Given the description of an element on the screen output the (x, y) to click on. 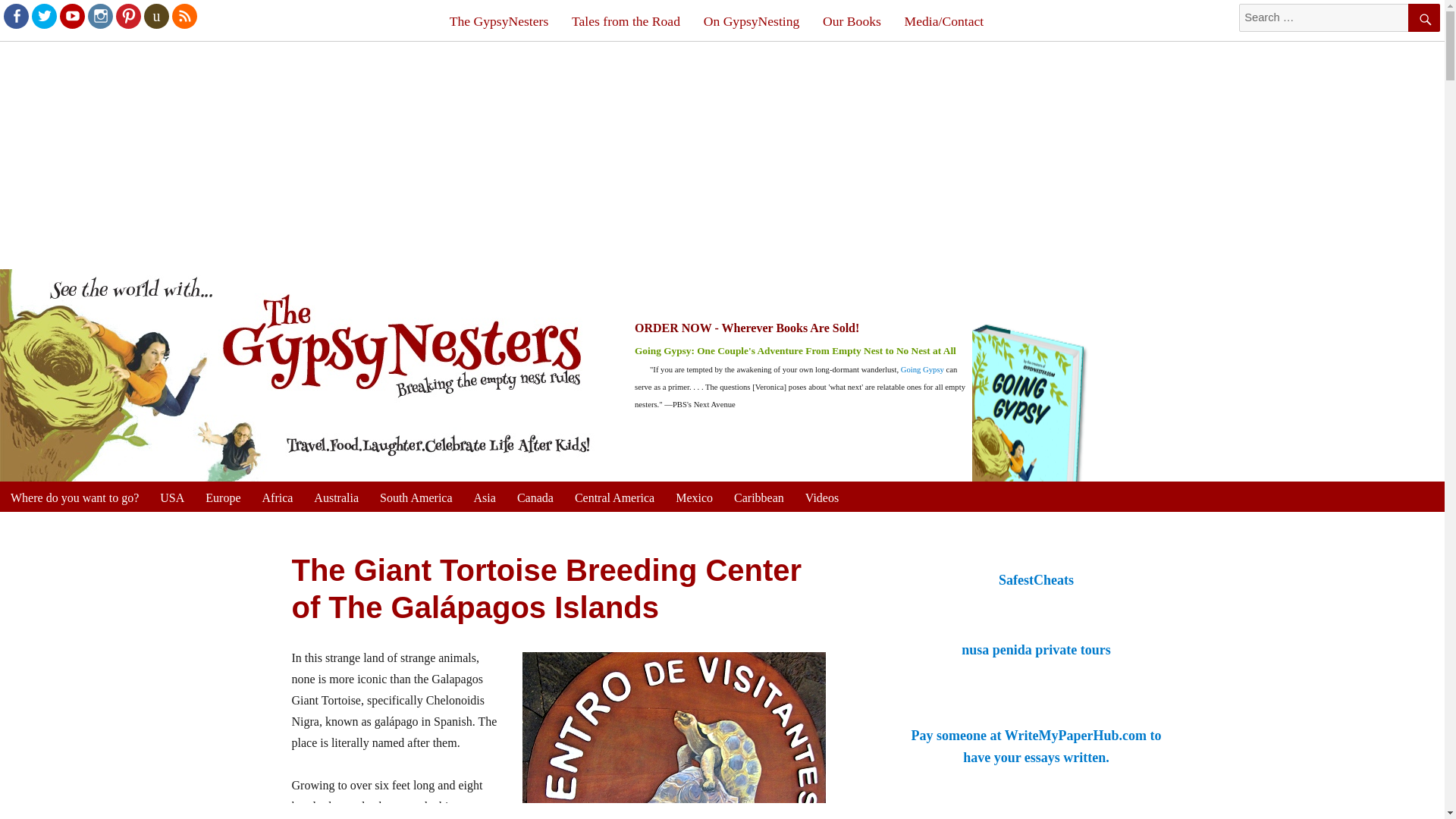
Our Books (851, 21)
Goodreads (155, 15)
Tales from the Road (626, 21)
On GypsyNesting (750, 21)
Going Gypsy:  (665, 350)
Pinterest (127, 15)
RSS (183, 15)
Going Gypsy (922, 369)
Instagram (98, 15)
Youtube (70, 15)
SEARCH (1423, 17)
The GypsyNesters (498, 21)
Twitter (43, 15)
